Given the description of an element on the screen output the (x, y) to click on. 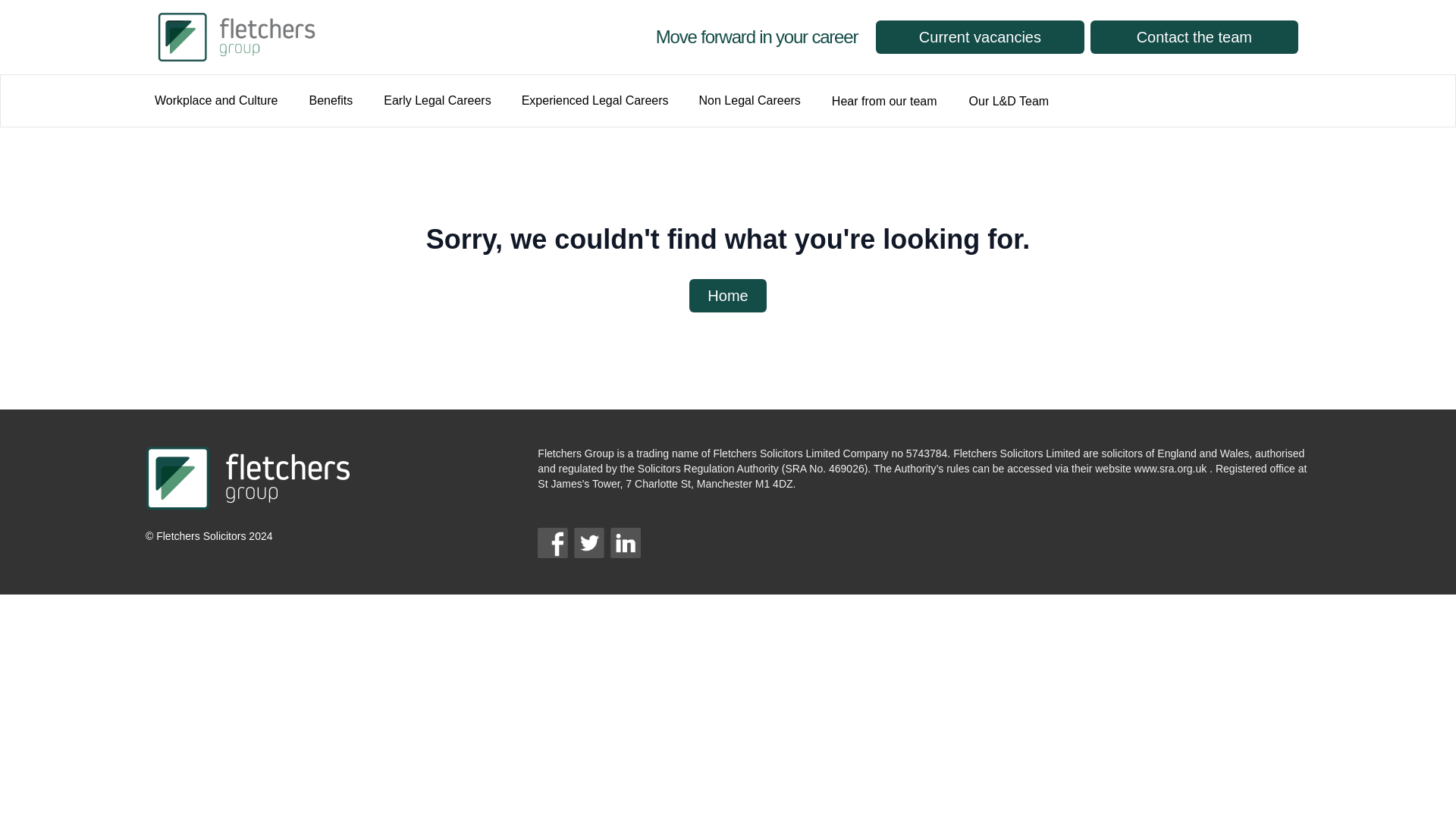
Workplace and Culture (216, 100)
Early Legal Careers (437, 100)
Contact the team (1194, 37)
Fletchers (347, 37)
Current vacancies (979, 37)
Benefits (330, 101)
Fletchers (347, 37)
